Given the description of an element on the screen output the (x, y) to click on. 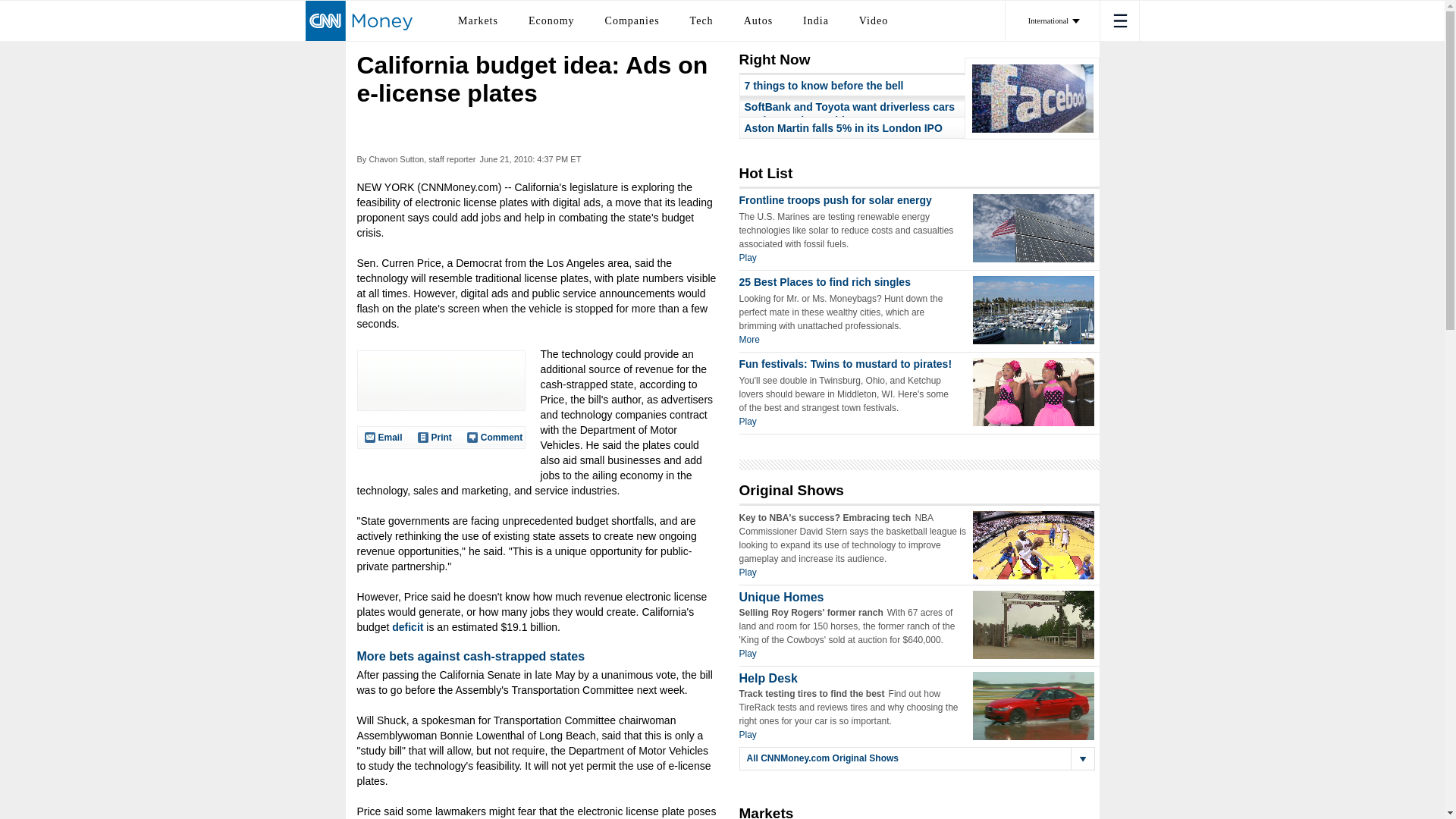
India (815, 20)
Video (873, 20)
Autos (758, 20)
Markets (477, 20)
Companies (632, 20)
Economy (551, 20)
Tech (701, 20)
